Given the description of an element on the screen output the (x, y) to click on. 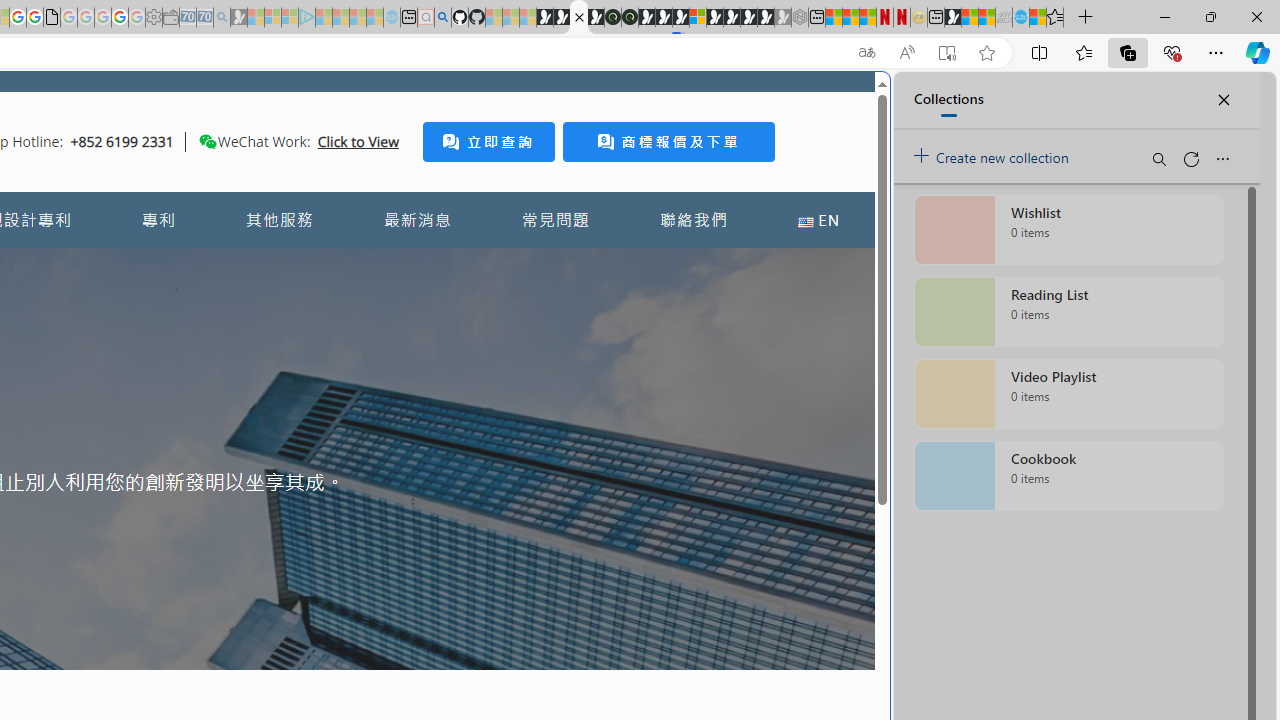
Play Cave FRVR in your browser | Games from Microsoft Start (663, 17)
google_privacy_policy_zh-CN.pdf (51, 17)
Search or enter web address (343, 191)
EN (818, 220)
